Given the description of an element on the screen output the (x, y) to click on. 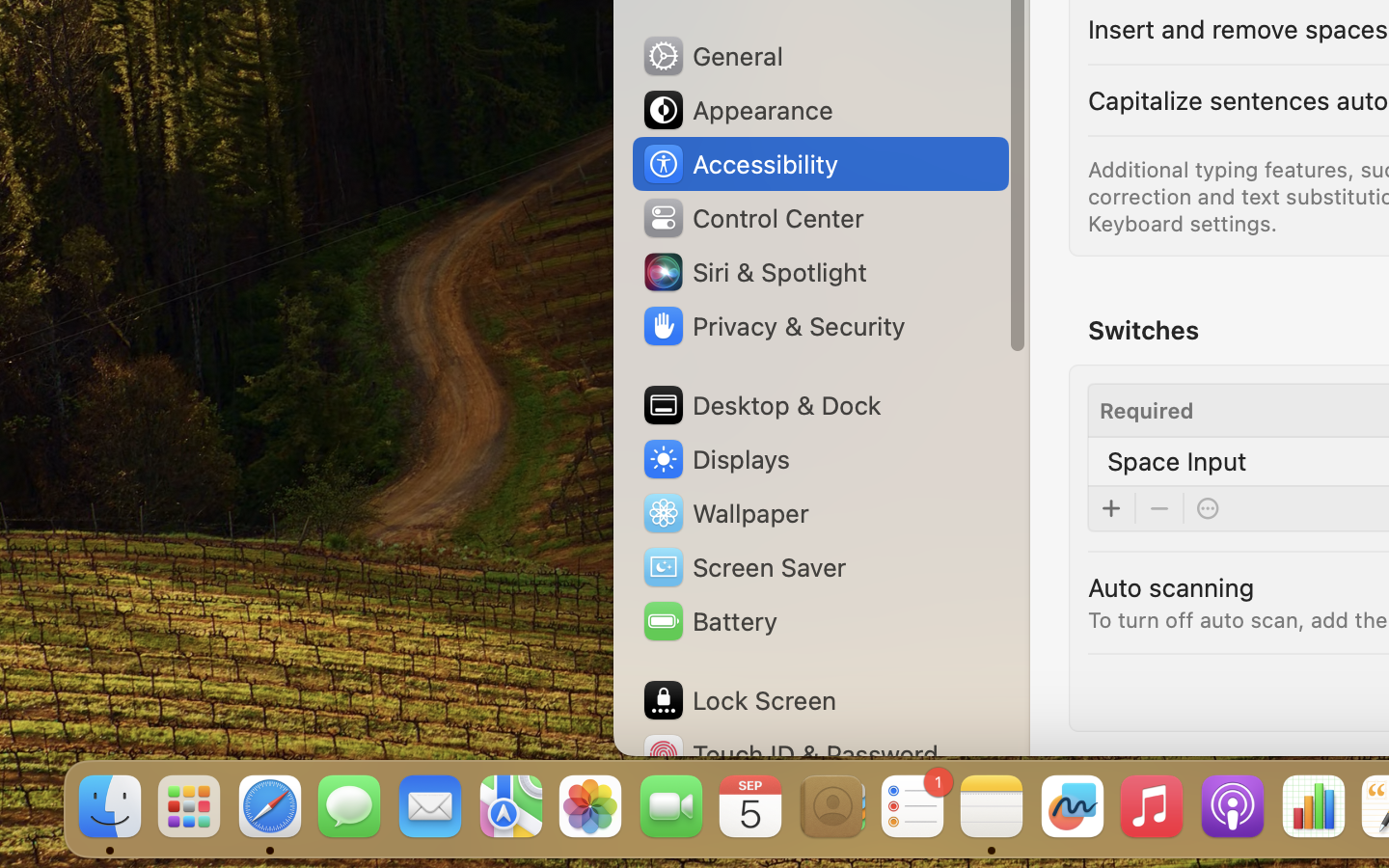
Battery Element type: AXStaticText (708, 620)
Appearance Element type: AXStaticText (736, 109)
Screen Saver Element type: AXStaticText (743, 566)
Desktop & Dock Element type: AXStaticText (760, 404)
General Element type: AXStaticText (711, 55)
